Given the description of an element on the screen output the (x, y) to click on. 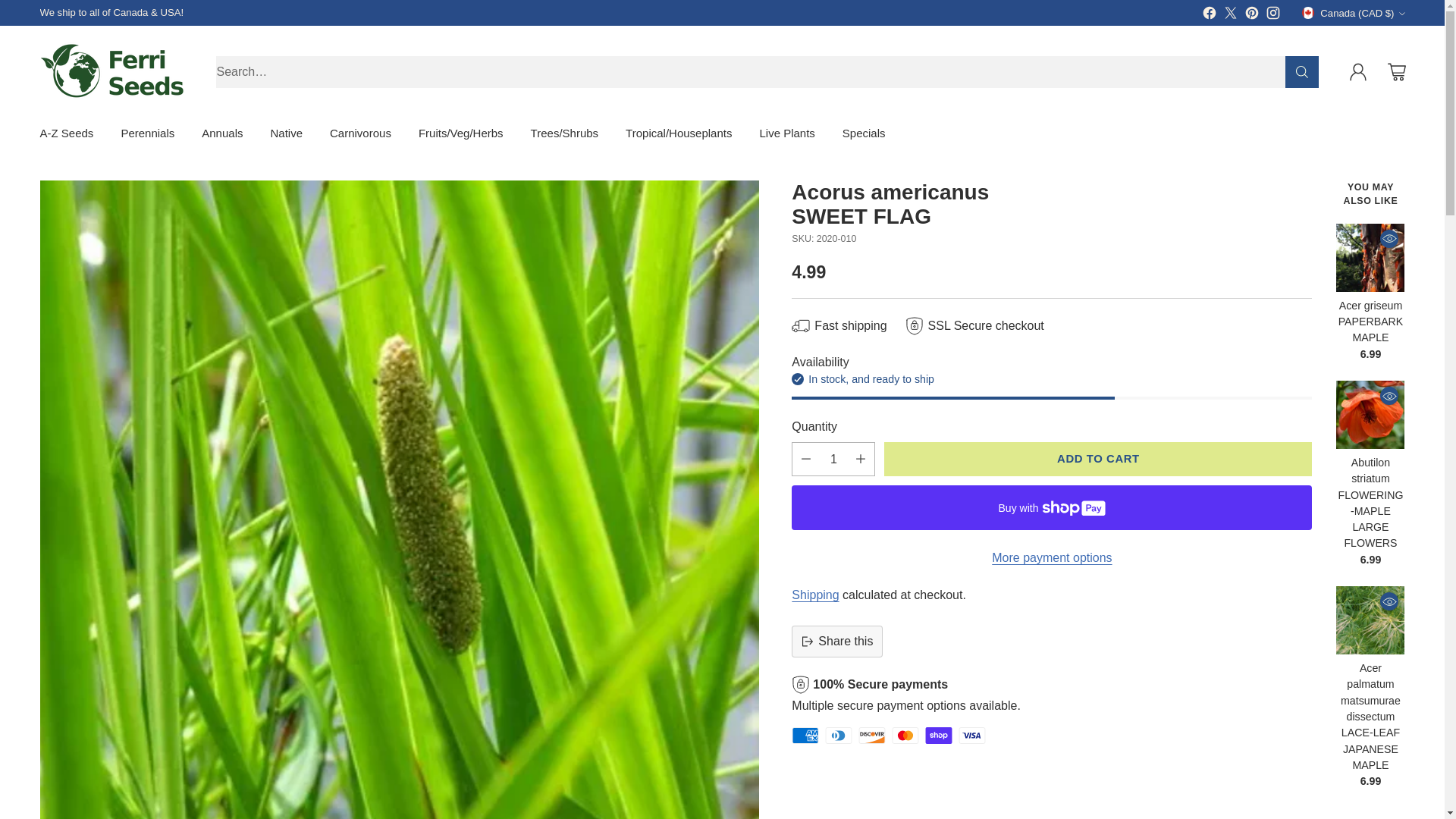
American Express (805, 735)
Carnivorous (360, 133)
Quick View (1388, 601)
Quick View (1388, 239)
A-Z Seeds (66, 133)
Annuals (222, 133)
Native (285, 133)
Discover (872, 735)
Quick View (1388, 395)
Perennials (147, 133)
Diners Club (838, 735)
